Given the description of an element on the screen output the (x, y) to click on. 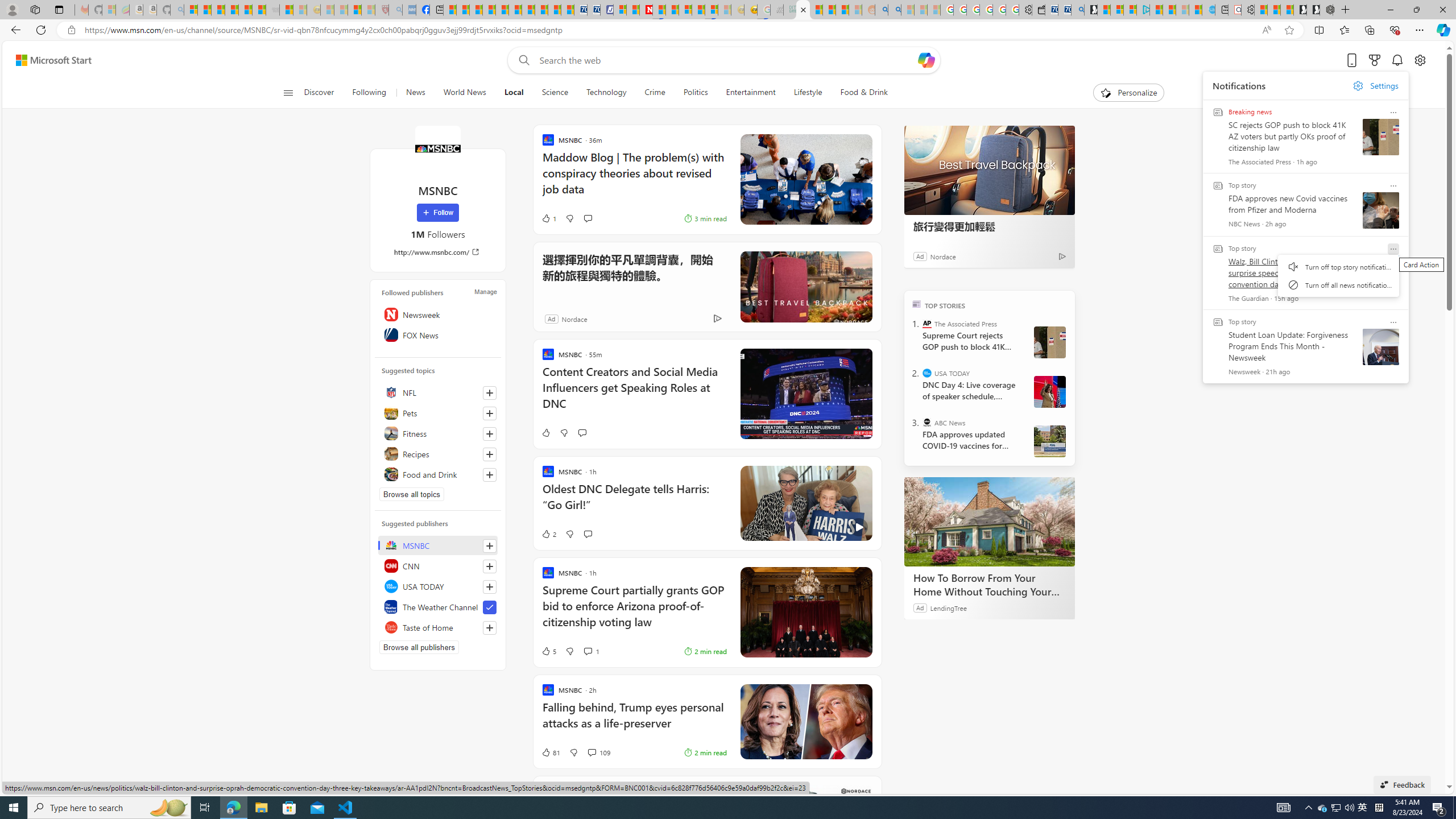
Latest Politics News & Archive | Newsweek.com (646, 9)
The Associated Press (927, 323)
Taste of Home (437, 627)
